Given the description of an element on the screen output the (x, y) to click on. 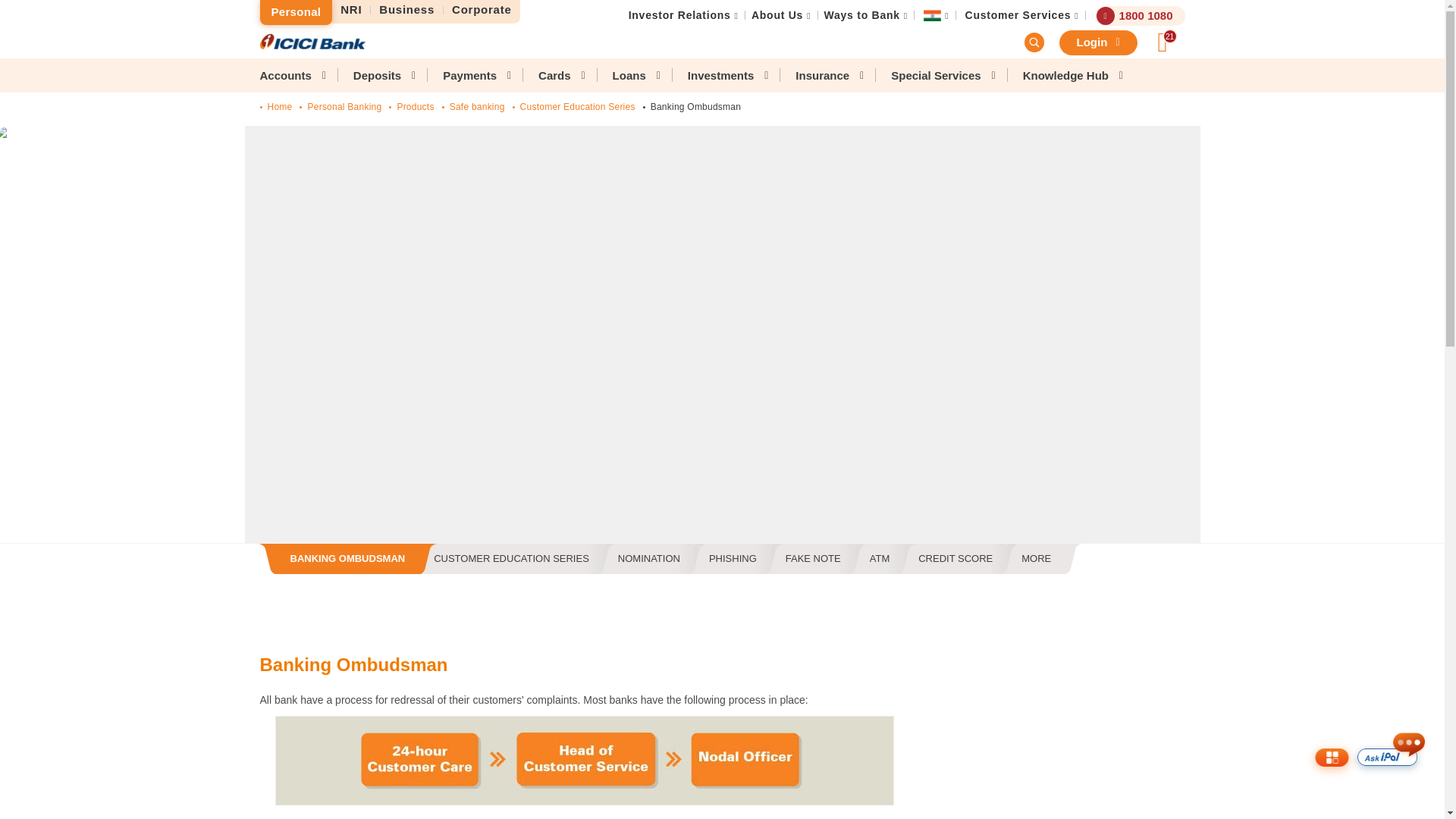
Corporate (481, 9)
Ways to Bank (861, 15)
Investor Relations (679, 15)
About Us (777, 15)
Business (407, 9)
NRI (351, 9)
Customer Services (1018, 15)
Personal (295, 12)
